Given the description of an element on the screen output the (x, y) to click on. 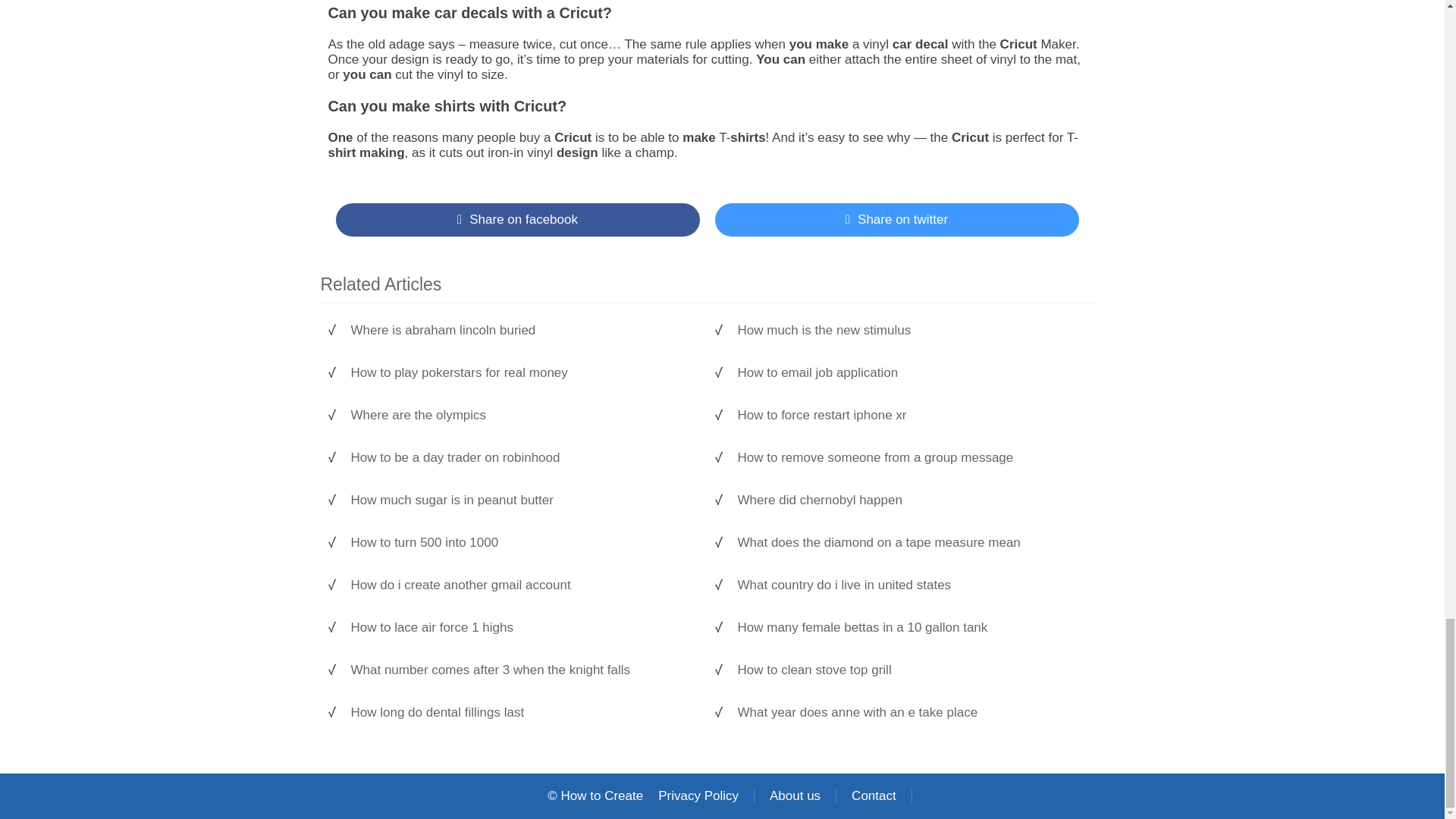
What does the diamond on a tape measure mean (907, 542)
How to email job application (907, 372)
How many female bettas in a 10 gallon tank (907, 627)
Where are the olympics (520, 415)
Where is abraham lincoln buried (520, 330)
How much sugar is in peanut butter (520, 500)
Where did chernobyl happen (907, 500)
Privacy Policy (698, 795)
How to force restart iphone xr (907, 415)
About us (794, 795)
Share on facebook (516, 219)
How to be a day trader on robinhood (520, 458)
What country do i live in united states (907, 585)
Where is abraham lincoln buried (520, 330)
How to lace air force 1 highs (520, 627)
